Given the description of an element on the screen output the (x, y) to click on. 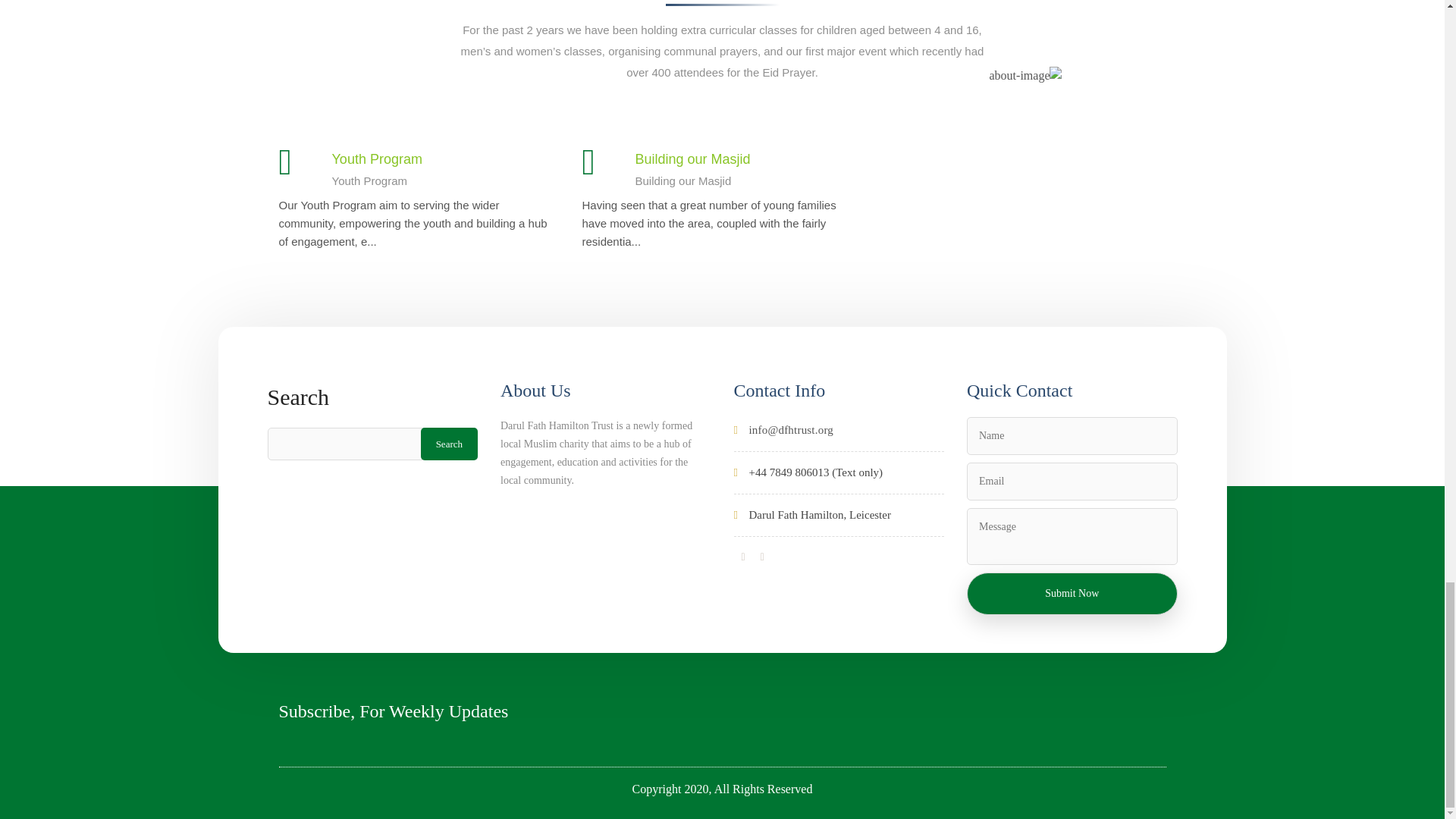
Submit Now (1071, 593)
All Rights Reserved (763, 788)
Submit Now (1071, 593)
Search (448, 443)
